Given the description of an element on the screen output the (x, y) to click on. 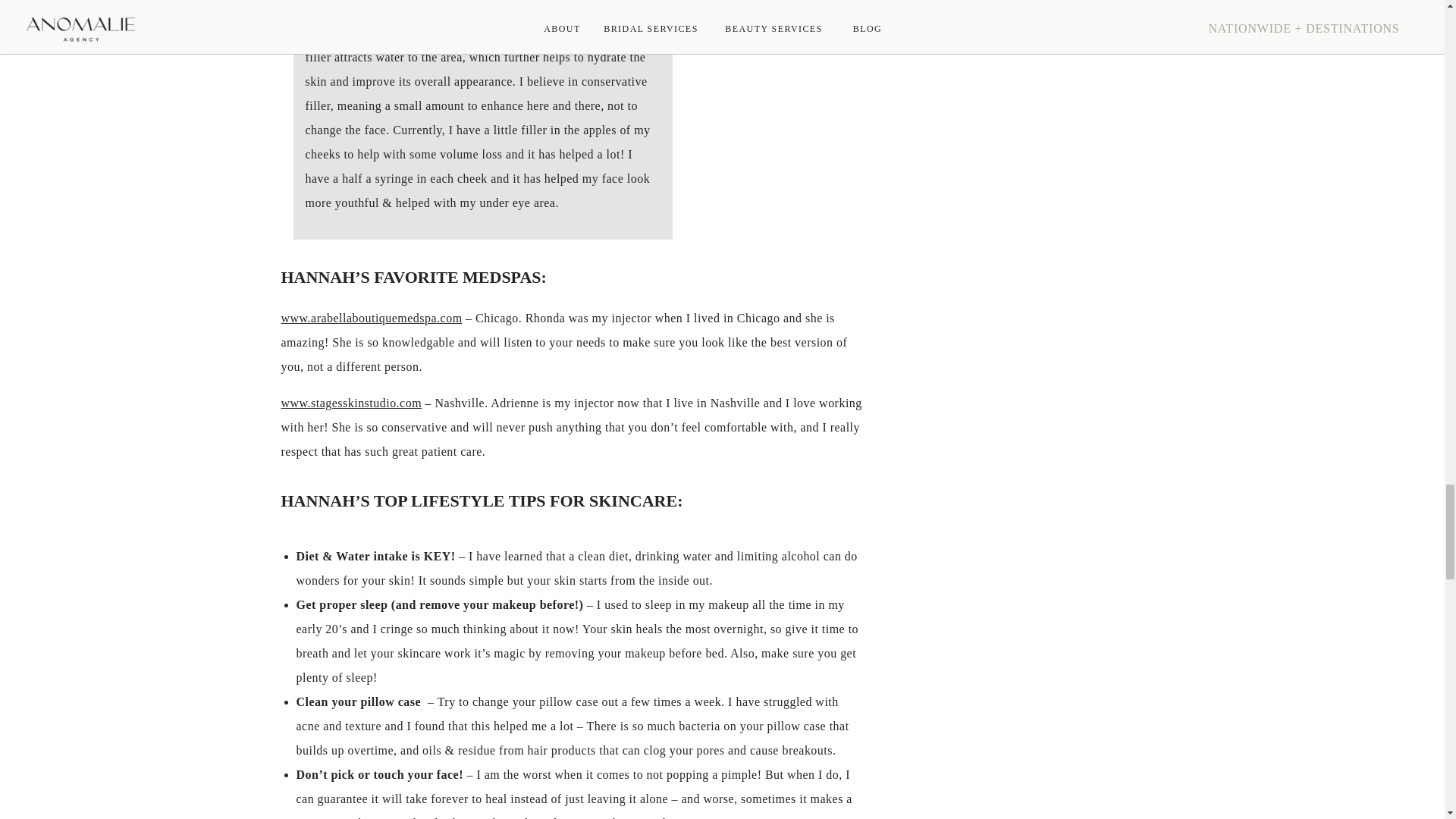
www.stagesskinstudio.com (351, 402)
www.arabellaboutiquemedspa.com (371, 318)
